Given the description of an element on the screen output the (x, y) to click on. 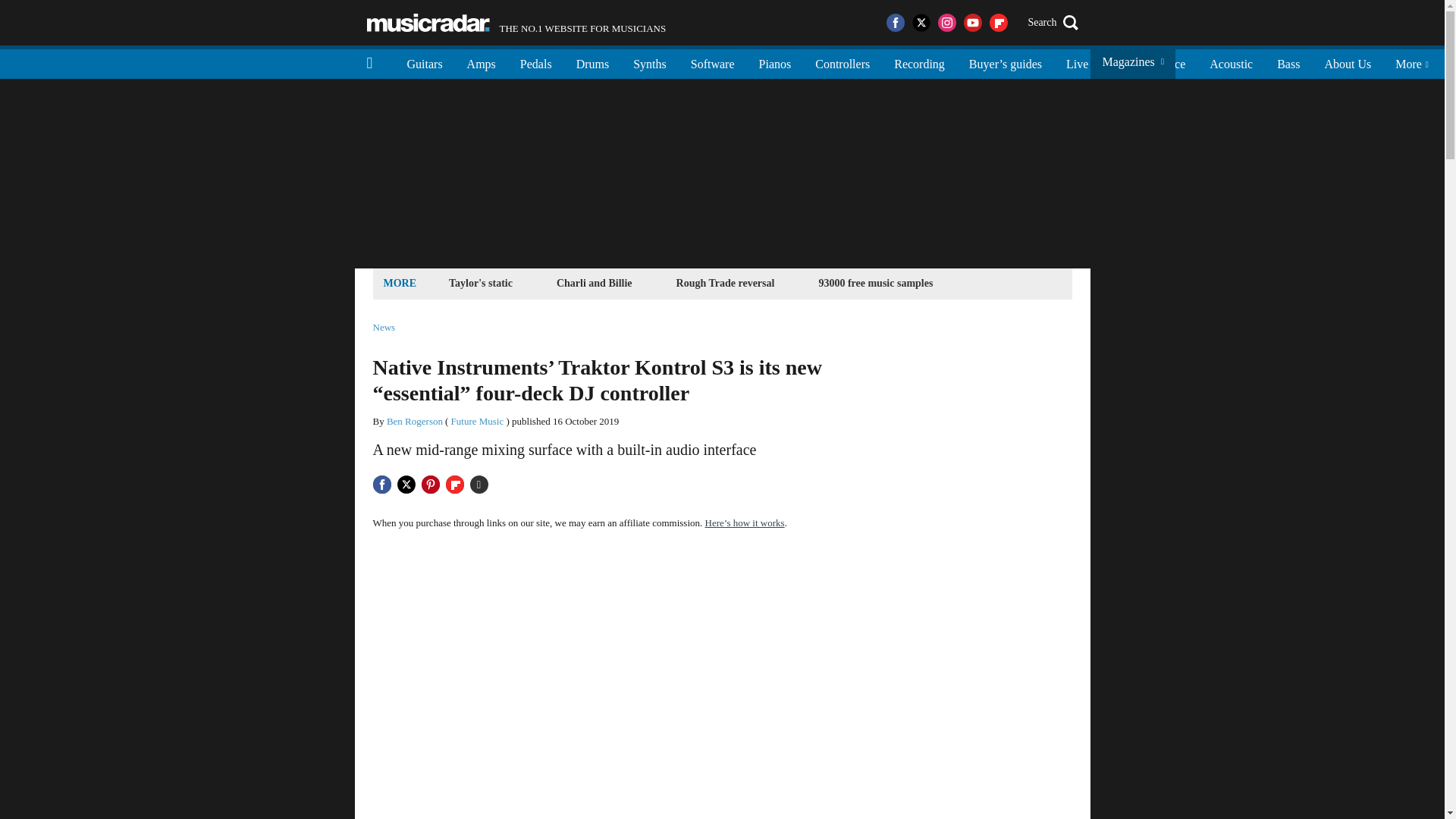
Ben Rogerson (414, 420)
Bass (1288, 61)
Pianos (774, 61)
About Us (1347, 61)
Synths (516, 22)
DJ (649, 61)
Music Radar (1119, 61)
Acoustic (427, 22)
Advice (1230, 61)
